Given the description of an element on the screen output the (x, y) to click on. 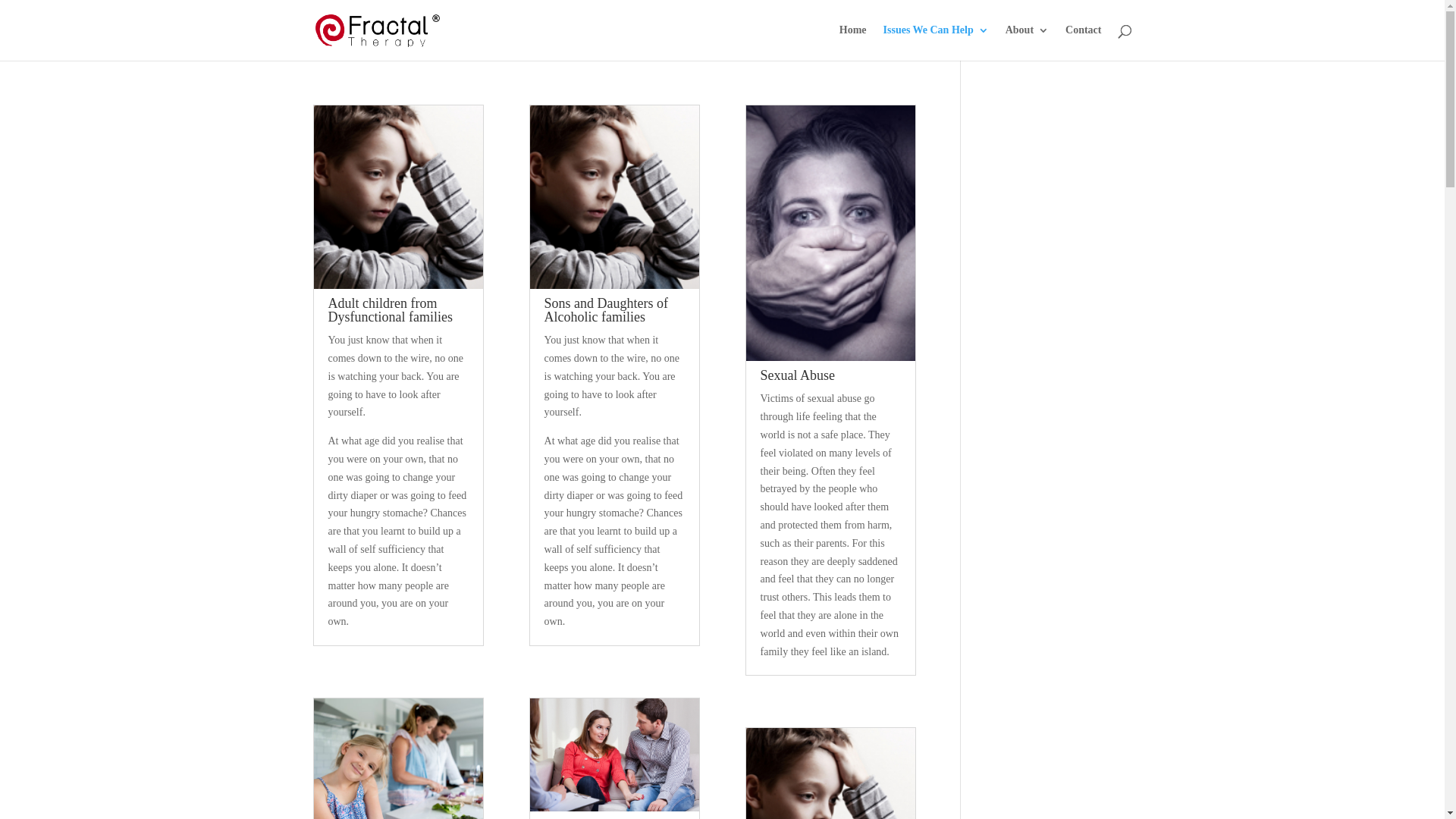
Sons and Daughters of Alcoholic families Element type: text (606, 309)
Sexual Abuse Element type: text (797, 374)
About Element type: text (1026, 42)
Issues We Can Help Element type: text (935, 42)
Home Element type: text (852, 42)
Adult children from Dysfunctional families Element type: text (389, 309)
Contact Element type: text (1083, 42)
